Given the description of an element on the screen output the (x, y) to click on. 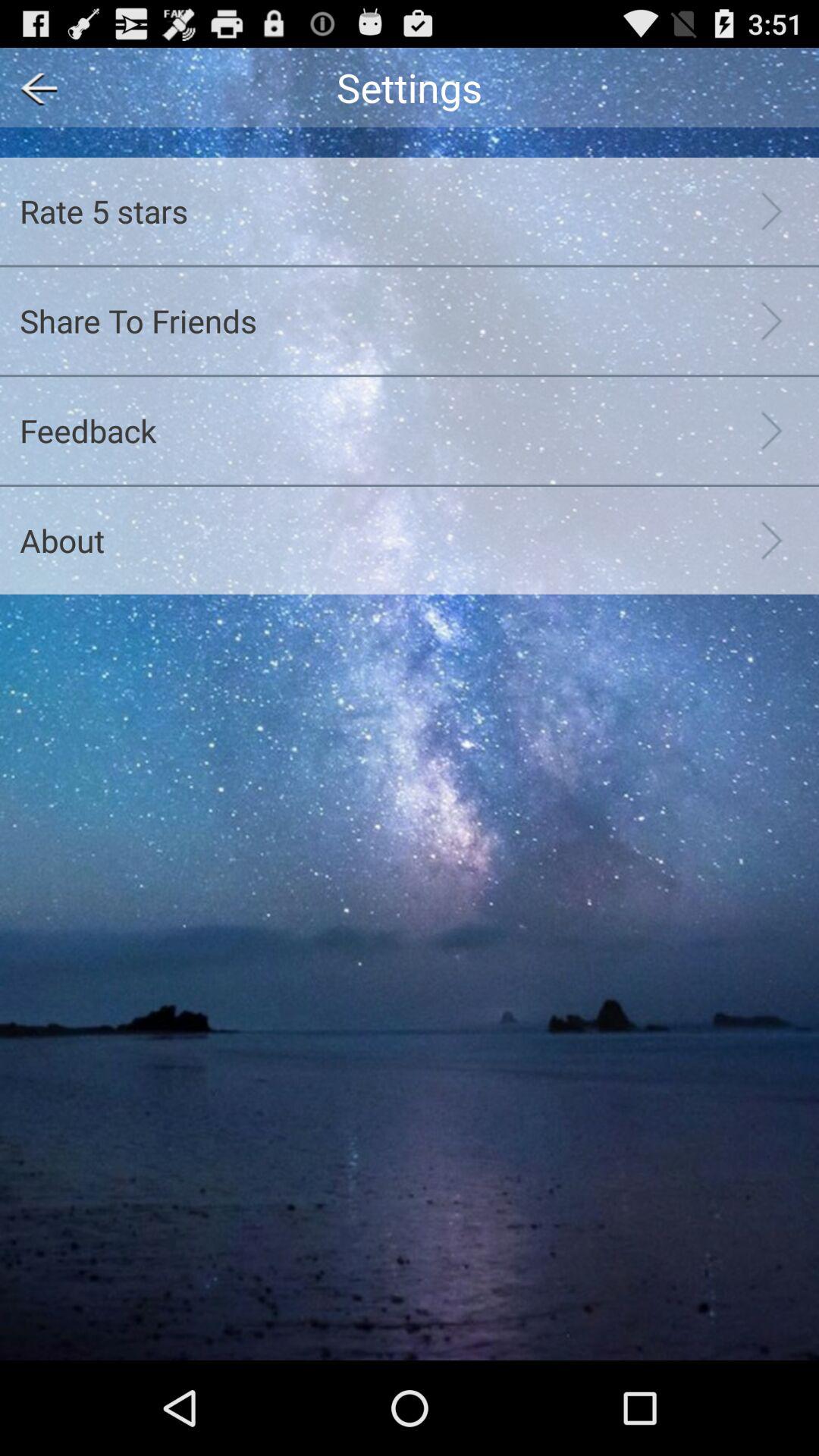
launch the item to the left of settings app (33, 87)
